Given the description of an element on the screen output the (x, y) to click on. 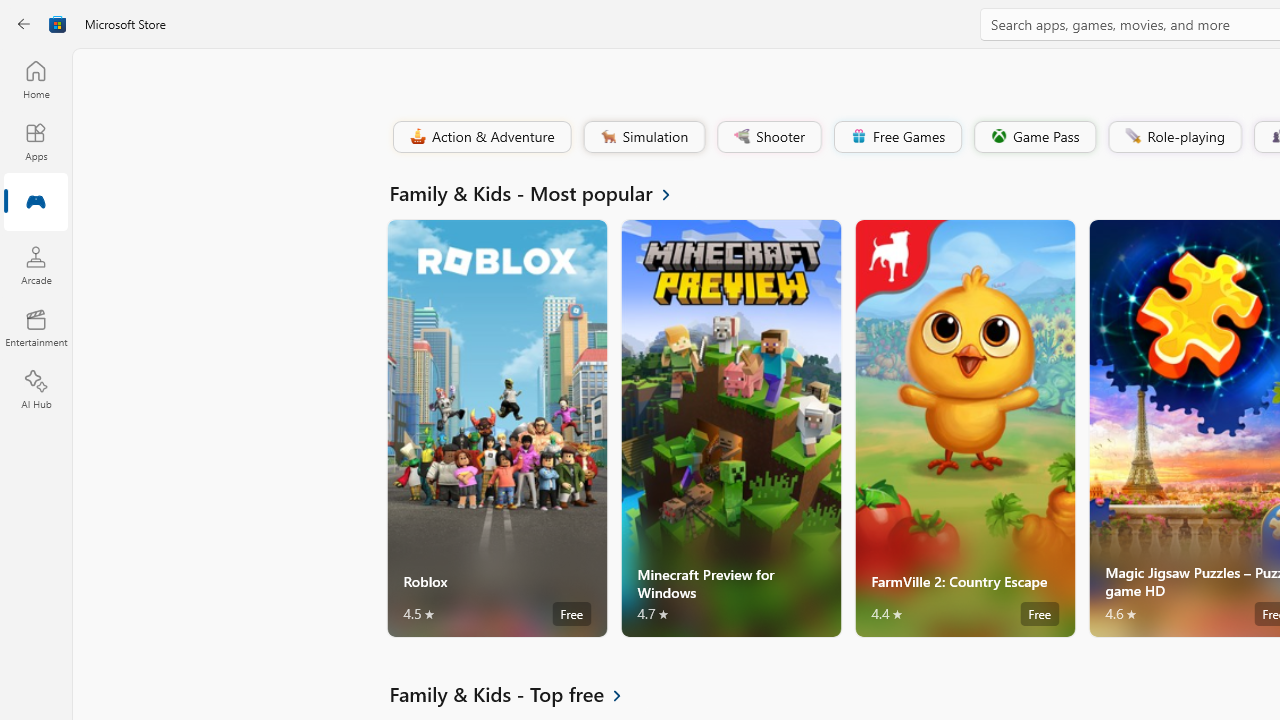
Shooter (767, 136)
Home (35, 79)
Arcade (35, 265)
See all  Family & Kids - Top free (516, 693)
AI Hub (35, 390)
Roblox. Average rating of 4.5 out of five stars. Free   (497, 427)
Apps (35, 141)
Gaming (35, 203)
Free Games (897, 136)
Role-playing (1174, 136)
Class: Image (1132, 136)
Game Pass (1033, 136)
Simulation (643, 136)
